Given the description of an element on the screen output the (x, y) to click on. 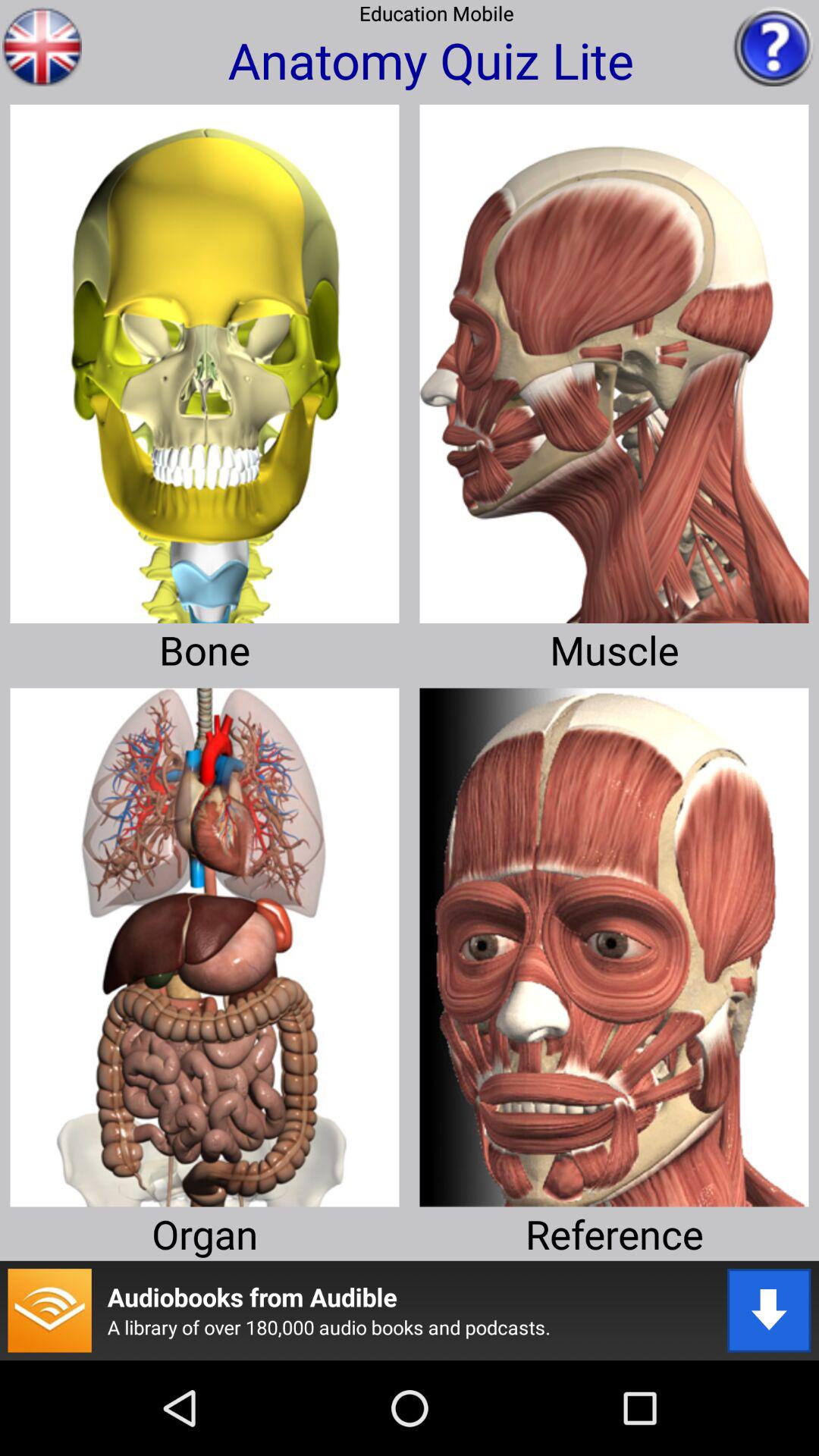
enlarge bone (204, 358)
